Given the description of an element on the screen output the (x, y) to click on. 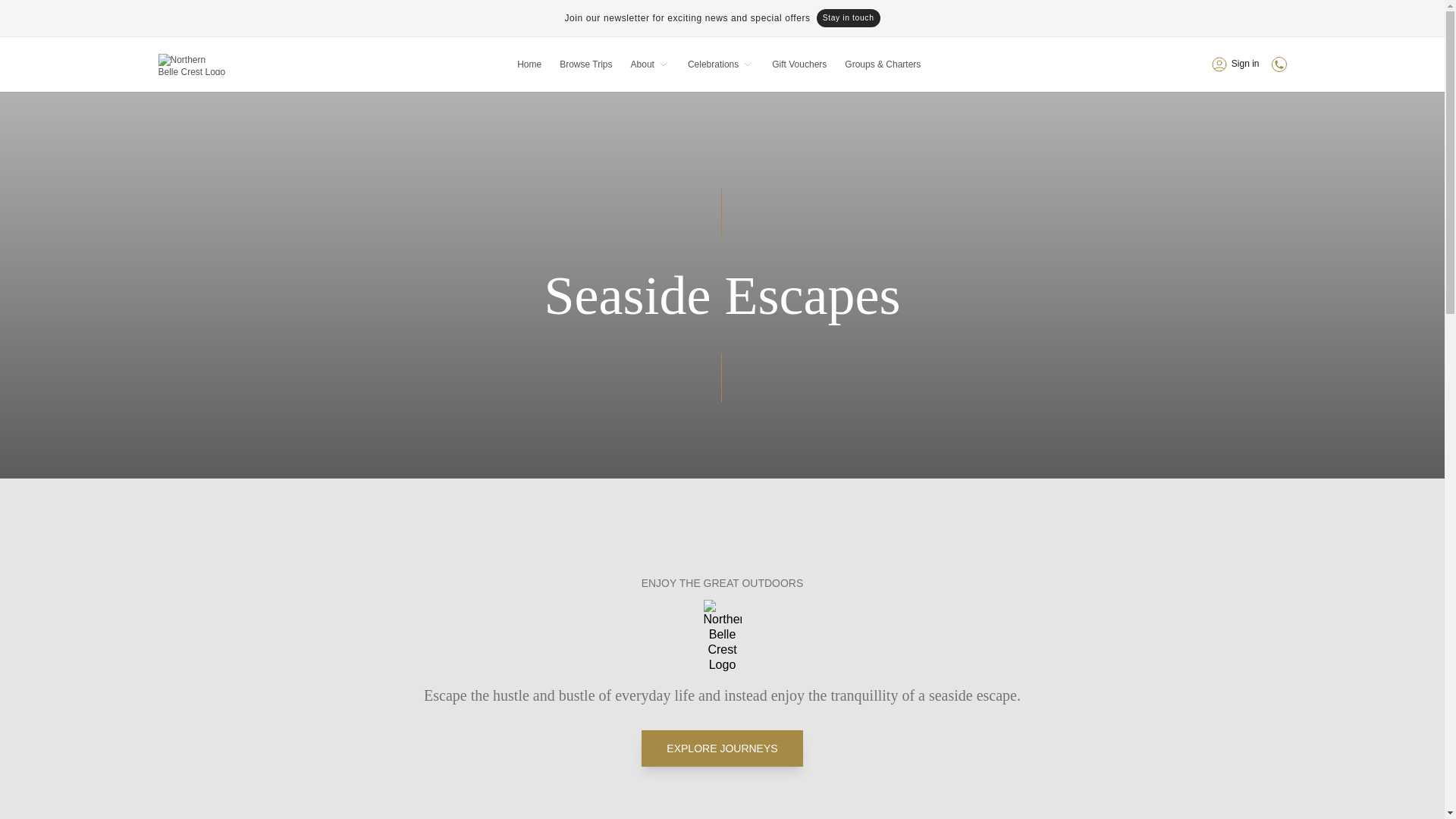
Stay in touch (848, 18)
Gift Vouchers (799, 64)
Sign in (1234, 64)
Browse Trips (585, 64)
